Given the description of an element on the screen output the (x, y) to click on. 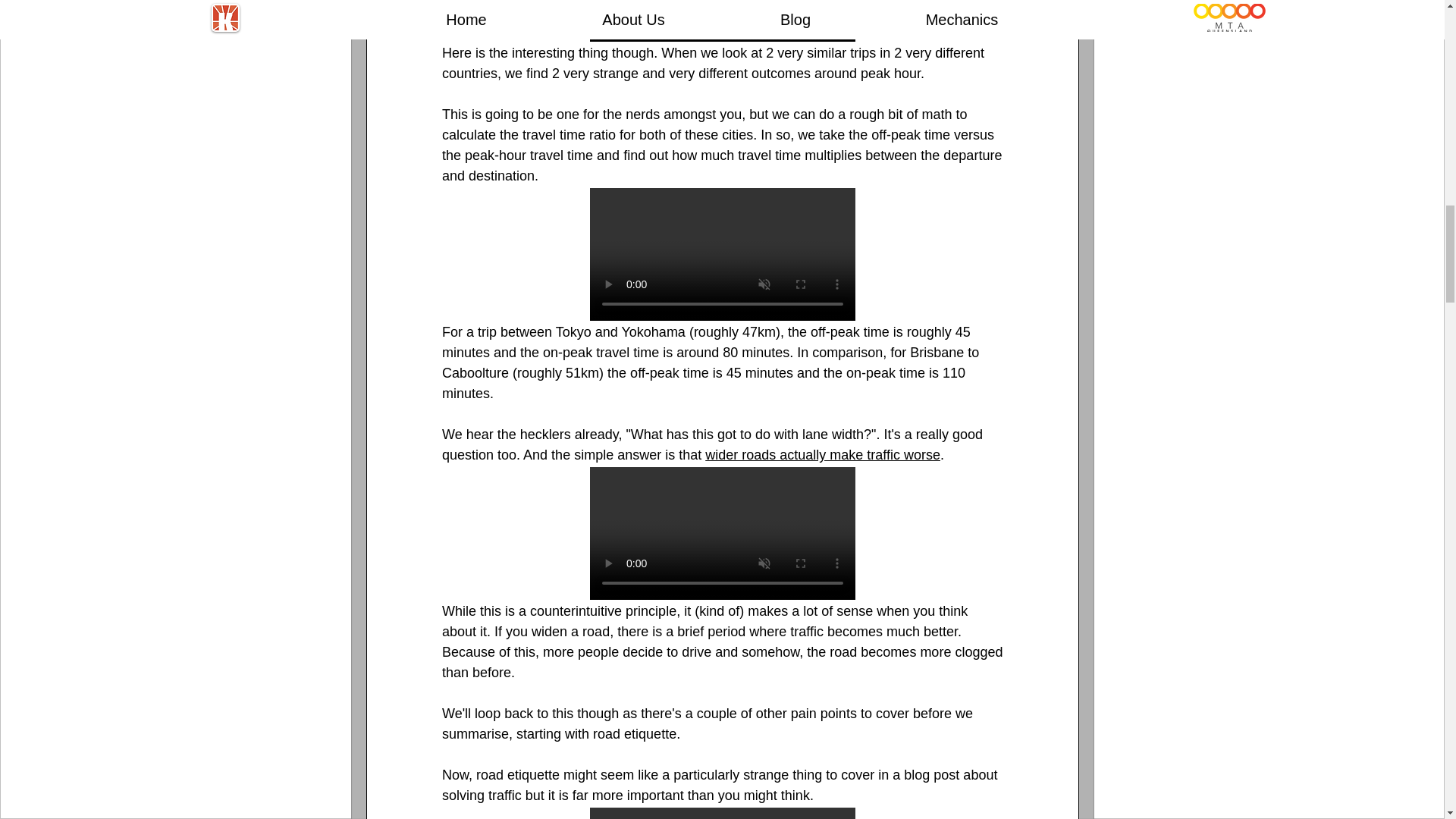
wider roads actually make traffic worse (822, 454)
